Given the description of an element on the screen output the (x, y) to click on. 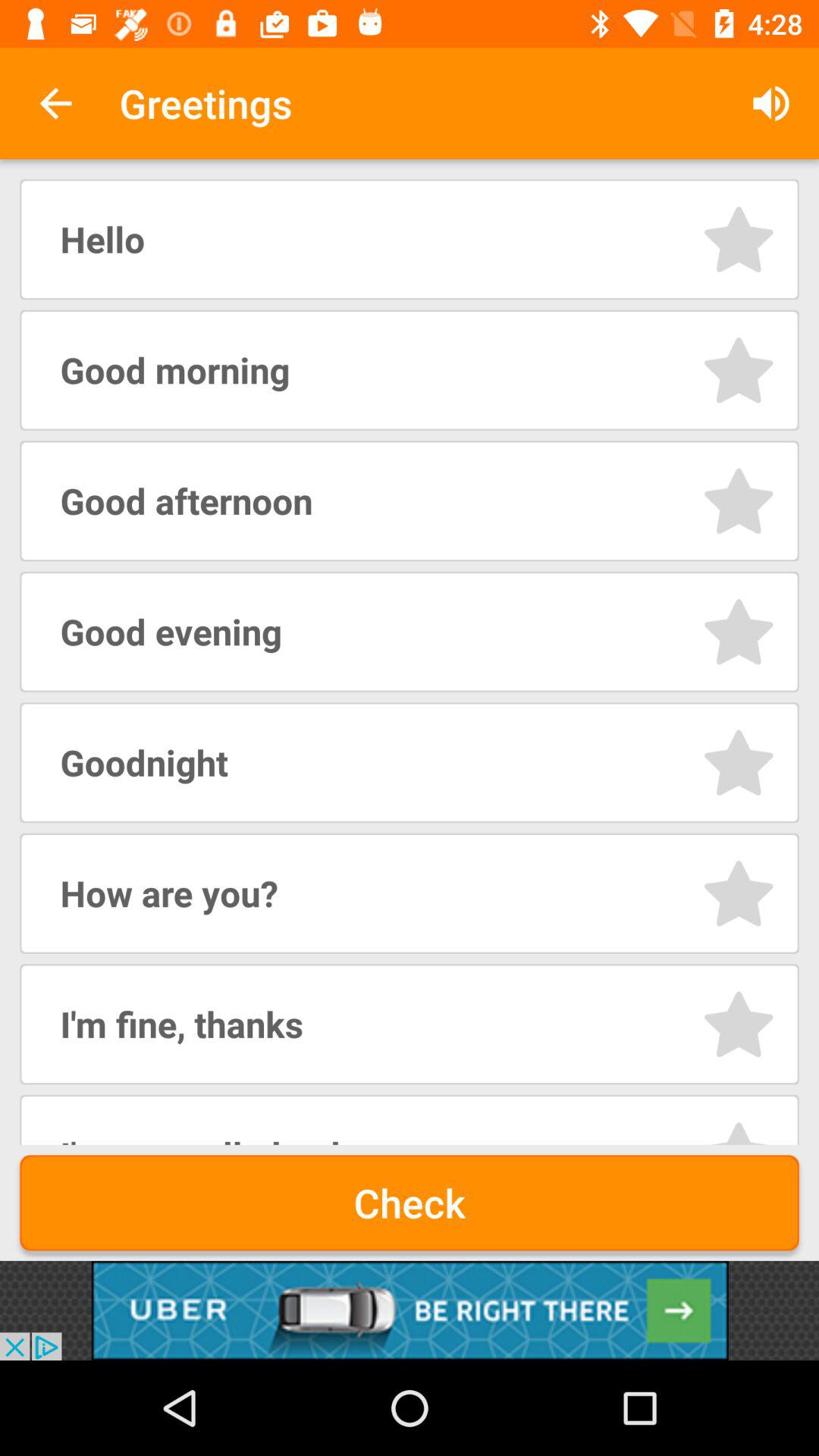
select option (738, 893)
